Given the description of an element on the screen output the (x, y) to click on. 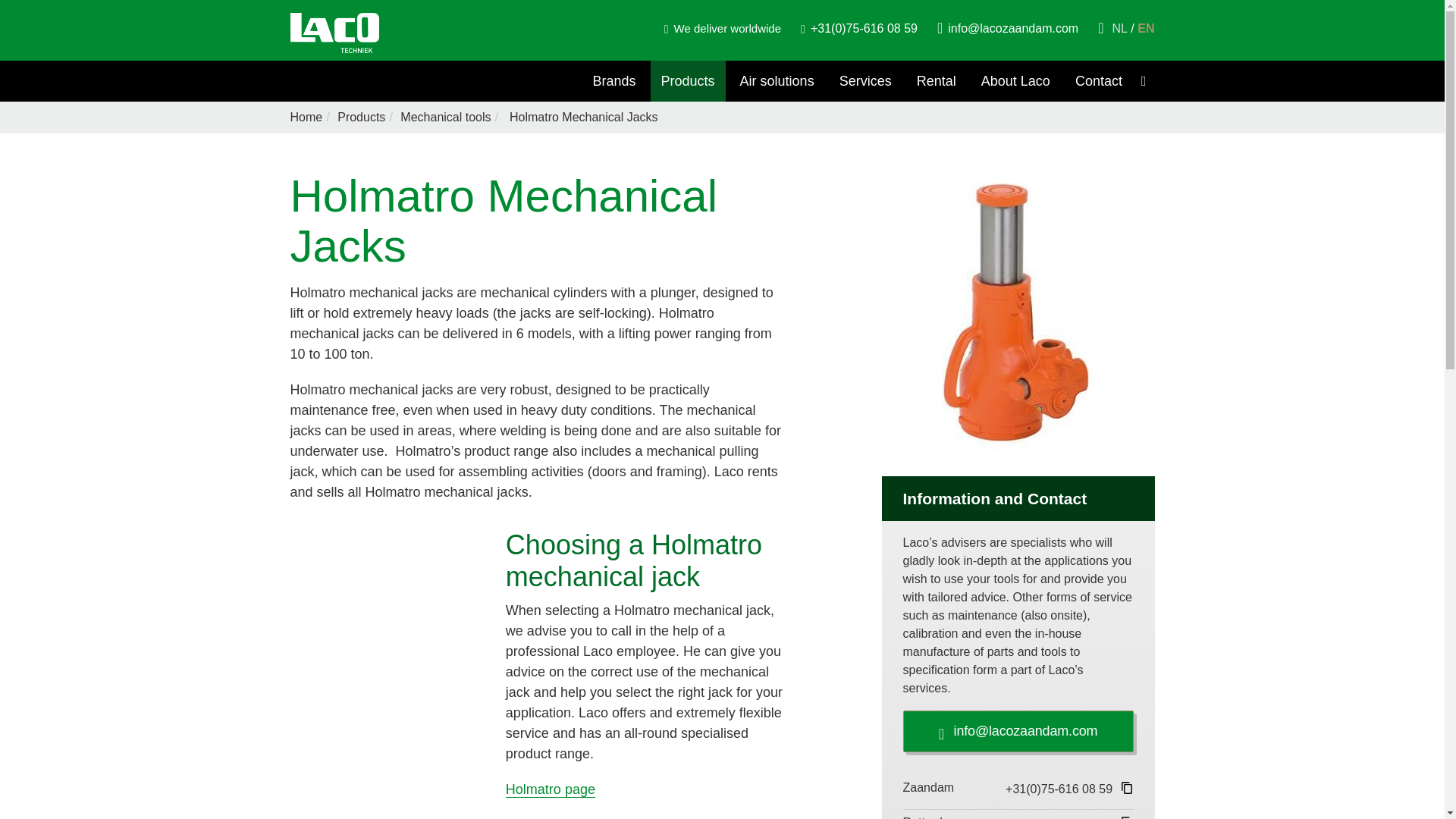
NL (1123, 28)
Mechanical tools (445, 116)
home (305, 116)
Products (361, 116)
EN (1145, 28)
Holmatro Mechanical Jacks (582, 116)
